Given the description of an element on the screen output the (x, y) to click on. 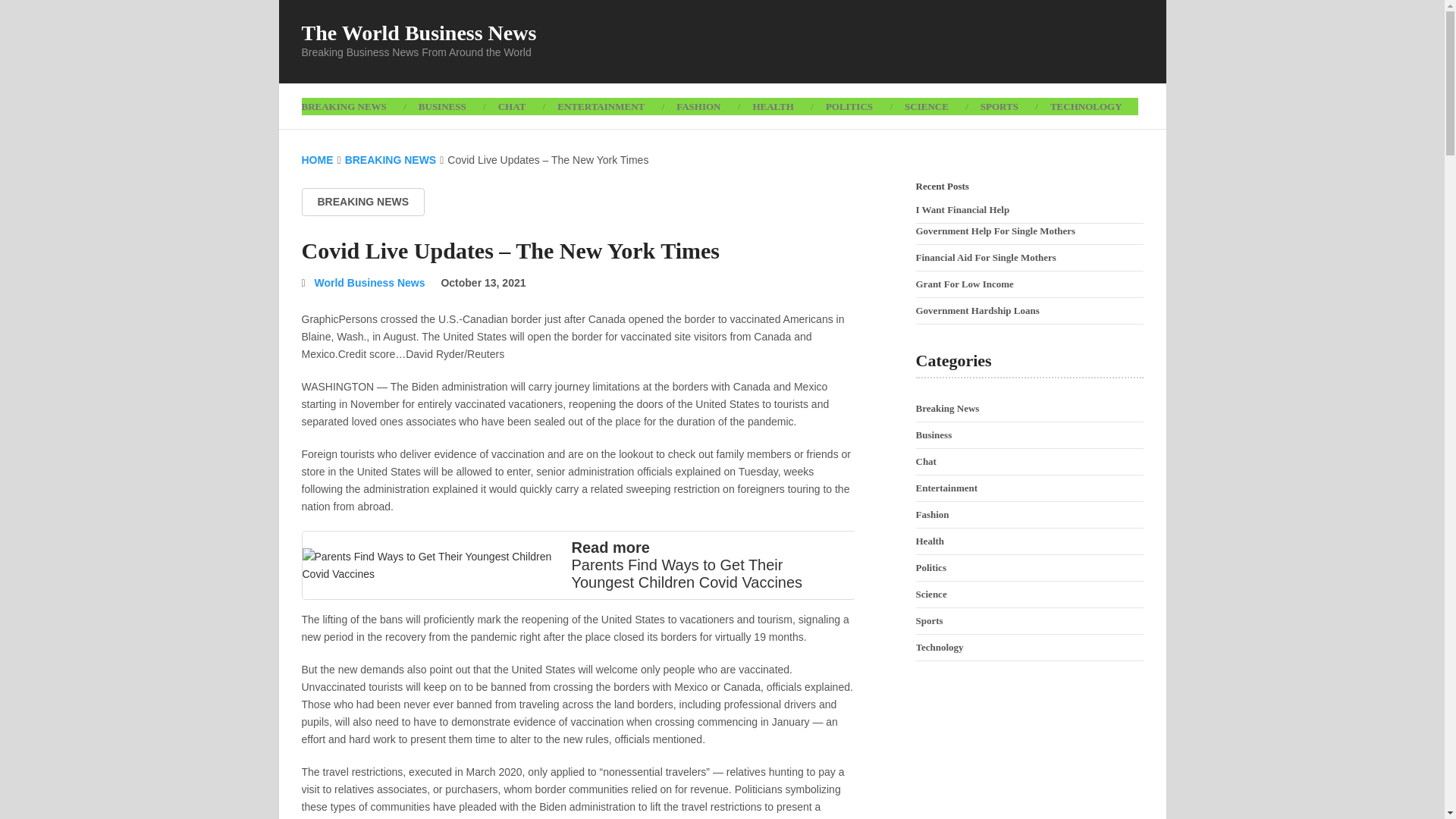
Entertainment (946, 487)
BUSINESS (442, 105)
The World Business News (419, 33)
Sports (929, 620)
SPORTS (998, 105)
I Want Financial Help (962, 209)
FASHION (698, 105)
ENTERTAINMENT (601, 105)
CHAT (511, 105)
